Given the description of an element on the screen output the (x, y) to click on. 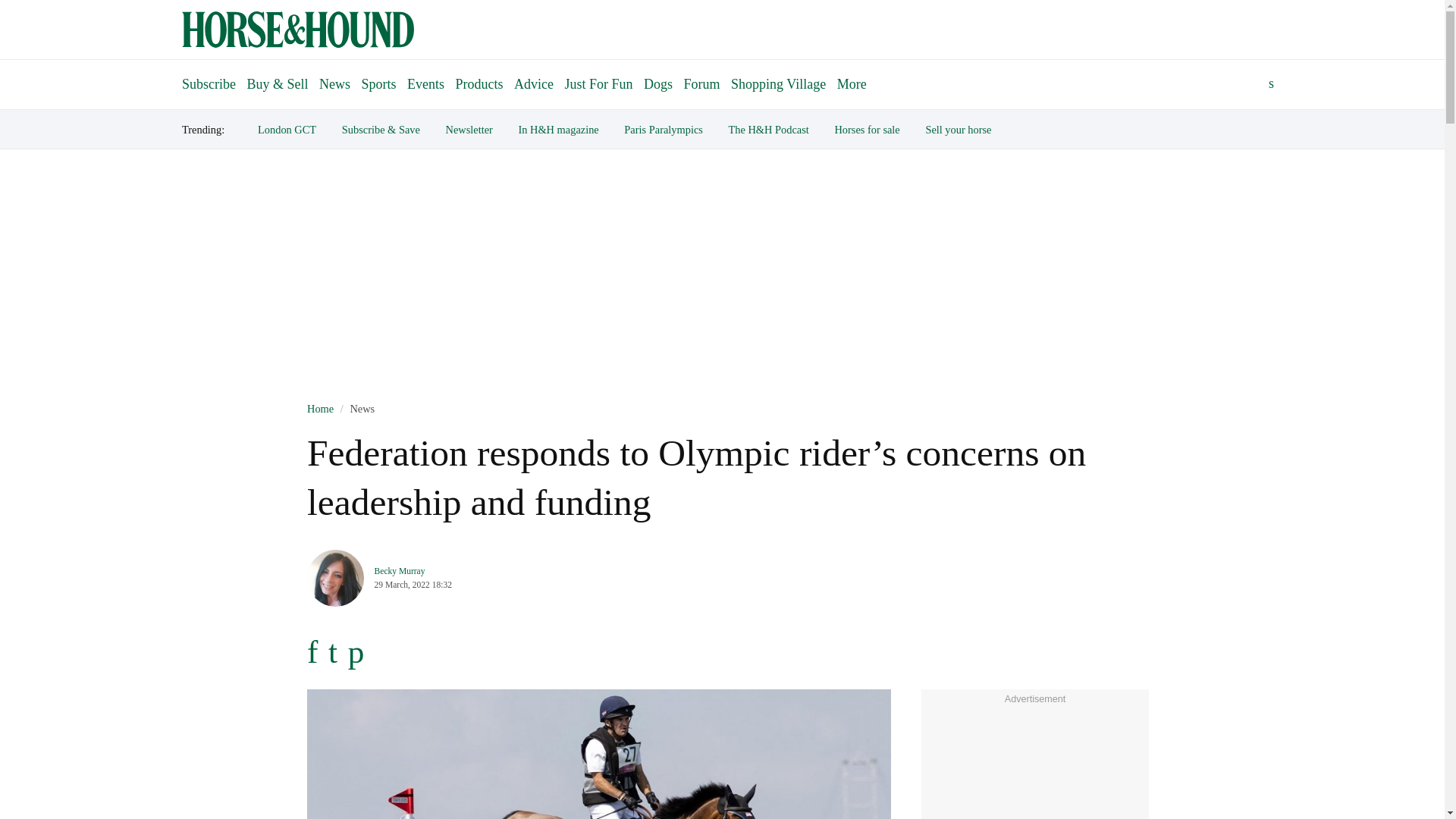
Subscribe (208, 77)
Advice (534, 83)
Events (425, 83)
Products (478, 83)
